Given the description of an element on the screen output the (x, y) to click on. 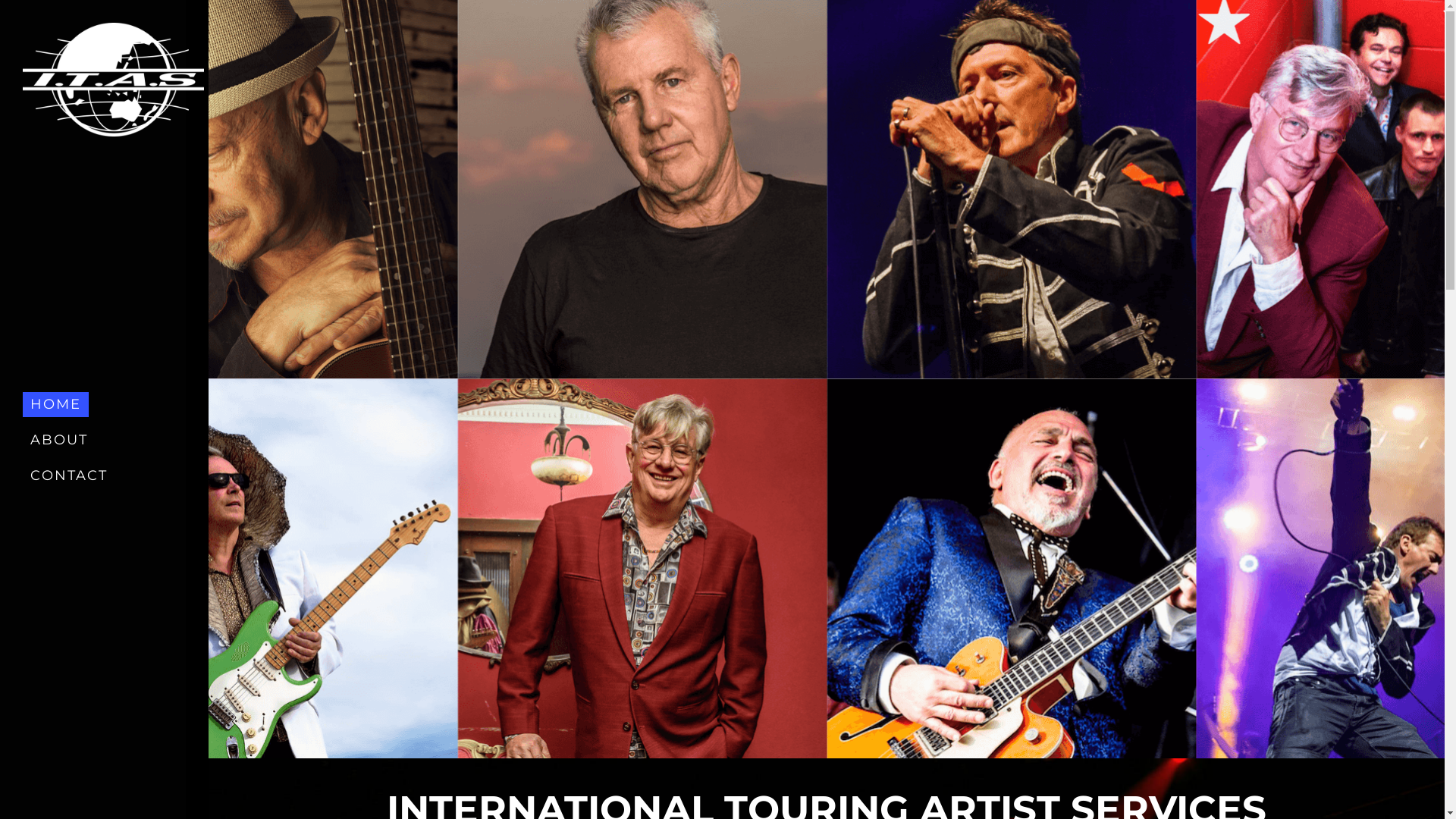
HOME Element type: text (55, 404)
ABOUT Element type: text (58, 440)
CONTACT Element type: text (68, 475)
